Given the description of an element on the screen output the (x, y) to click on. 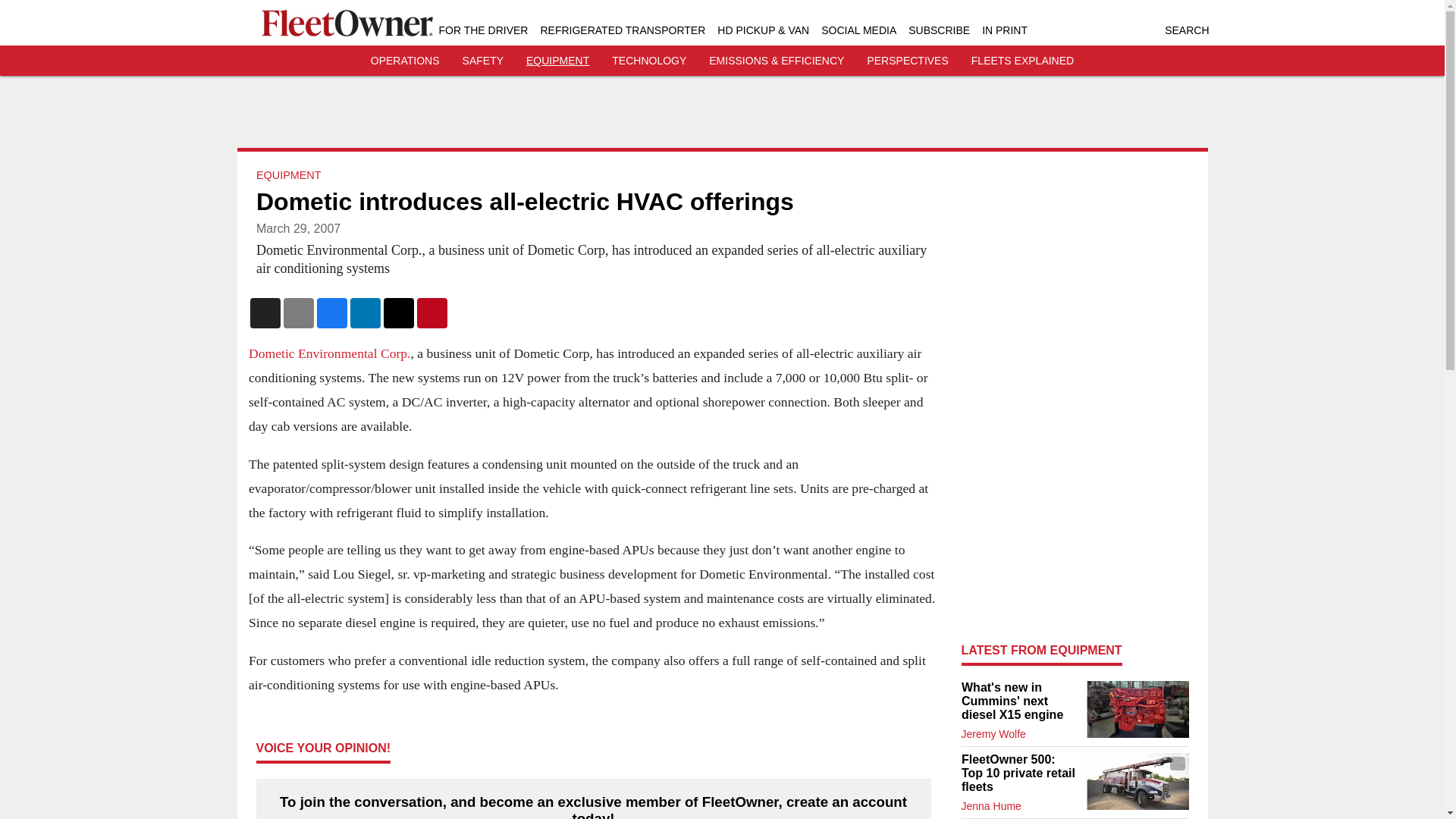
FOR THE DRIVER (482, 30)
REFRIGERATED TRANSPORTER (622, 30)
TECHNOLOGY (648, 60)
OPERATIONS (405, 60)
SOCIAL MEDIA (858, 30)
SAFETY (483, 60)
Jeremy Wolfe (993, 734)
EQUIPMENT (557, 60)
FLEETS EXPLAINED (1022, 60)
What's new in Cummins' next diesel X15 engine (1019, 700)
